Given the description of an element on the screen output the (x, y) to click on. 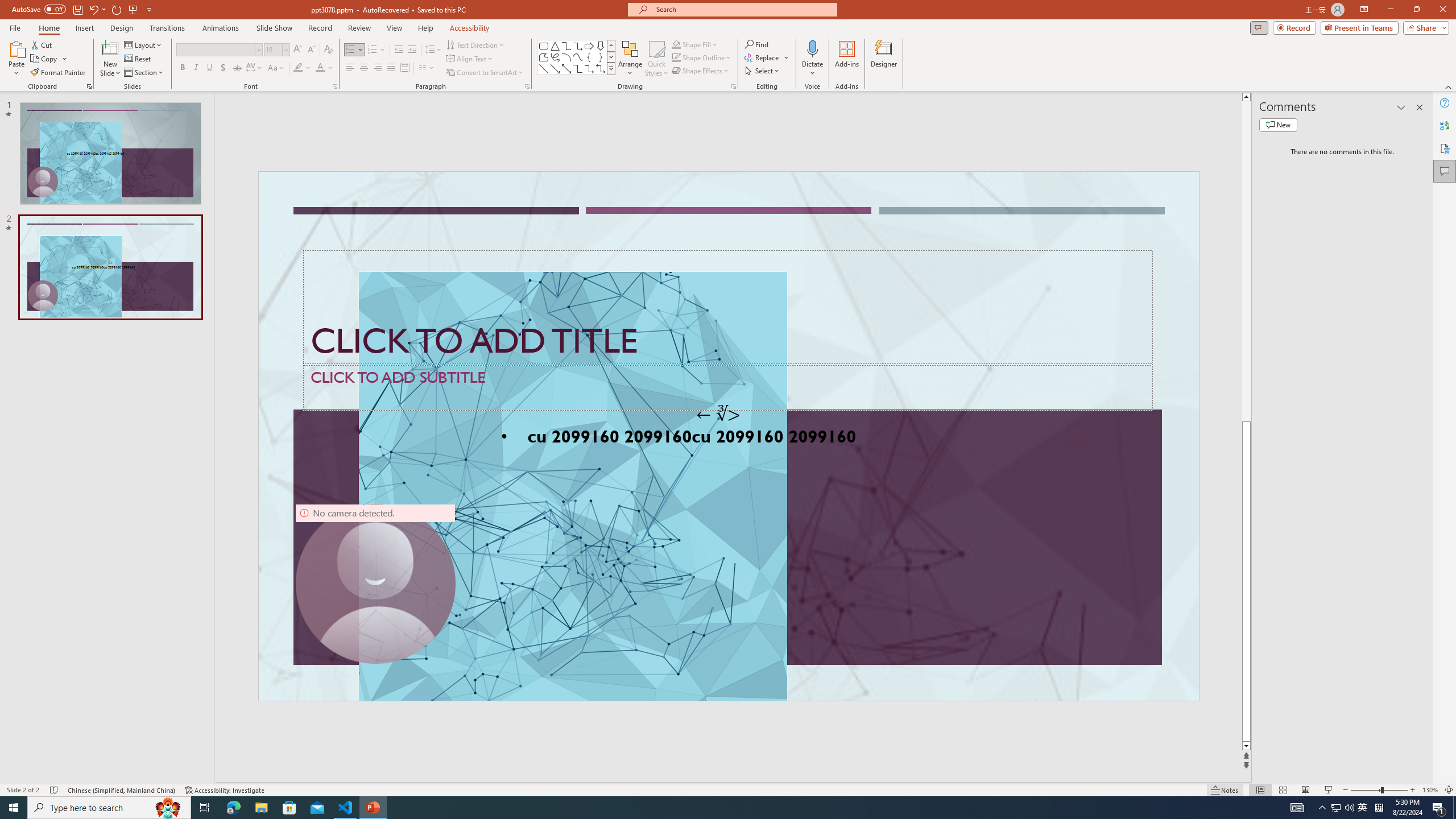
New comment (1278, 124)
Zoom 130% (1430, 790)
